Given the description of an element on the screen output the (x, y) to click on. 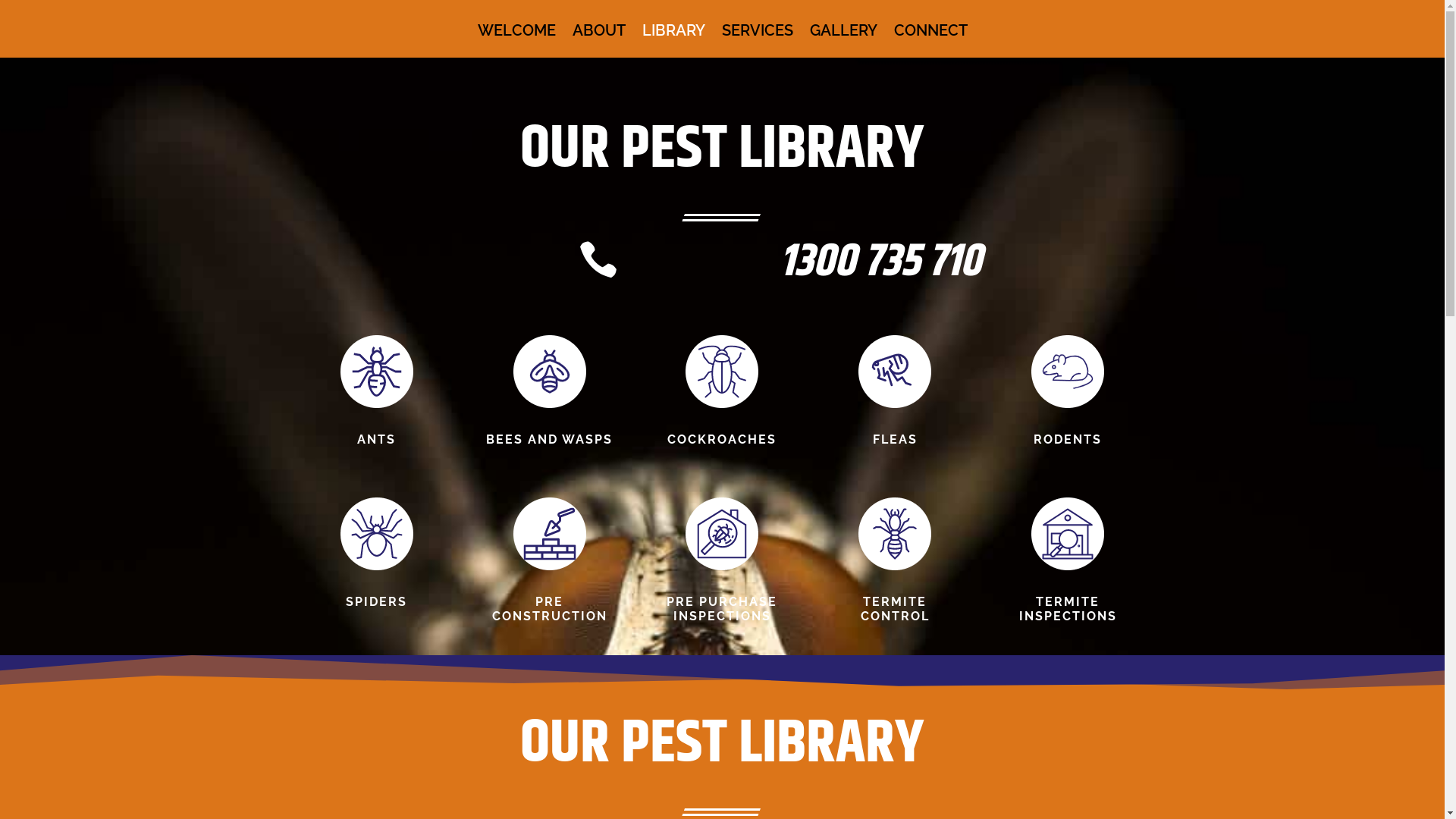
SERVICES Element type: text (757, 41)
GALLERY Element type: text (843, 41)
ABOUT Element type: text (597, 41)
CONNECT Element type: text (929, 41)
WELCOME Element type: text (516, 41)
LIBRARY Element type: text (672, 41)
